Given the description of an element on the screen output the (x, y) to click on. 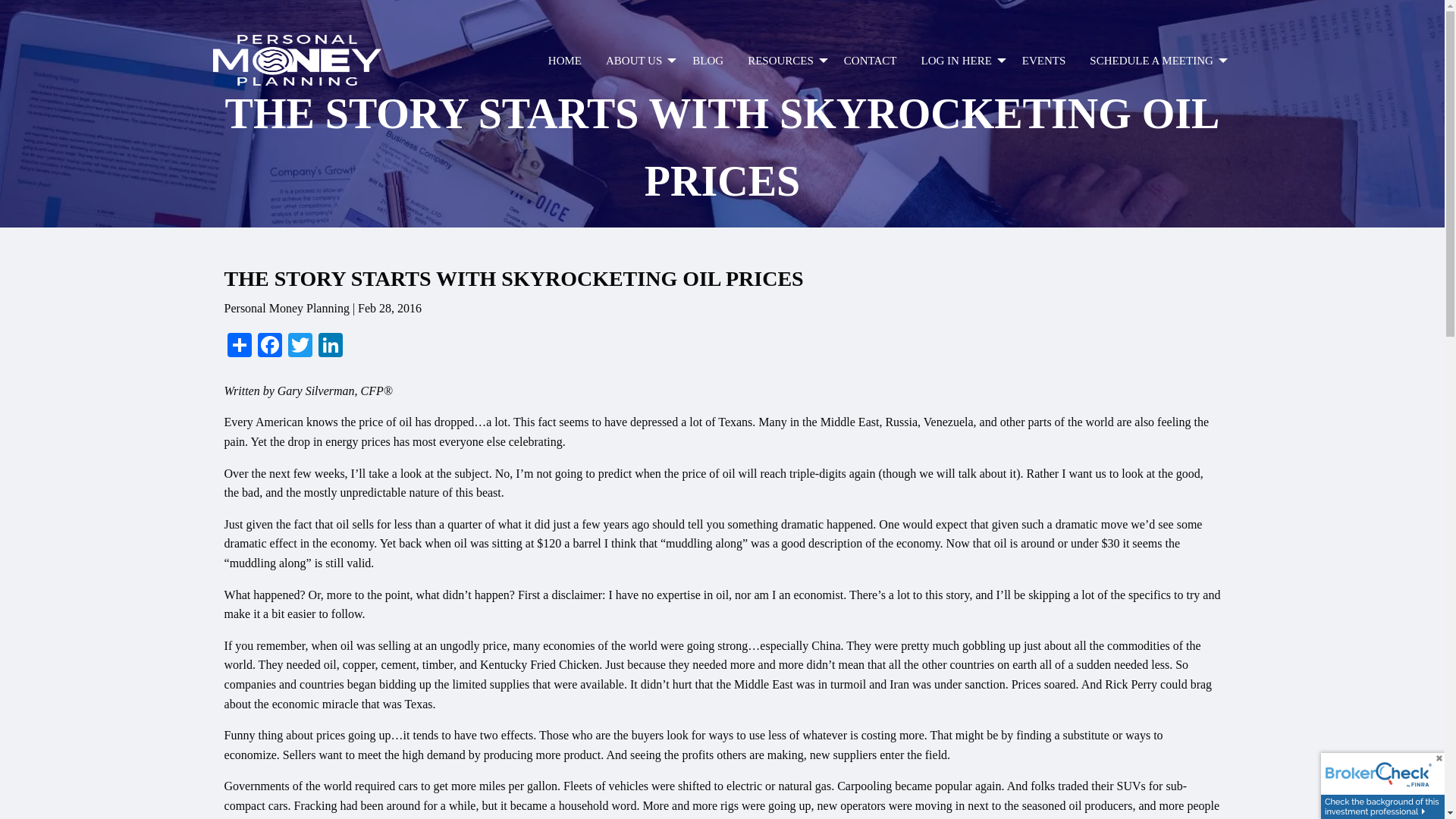
RESOURCES (783, 60)
HOME (564, 60)
EVENTS (1044, 60)
LOG IN HERE (958, 60)
ABOUT US (636, 60)
BLOG (707, 60)
Blog posts by Personal Money Planning (707, 60)
SCHEDULE A MEETING (1154, 60)
CONTACT (869, 60)
